Given the description of an element on the screen output the (x, y) to click on. 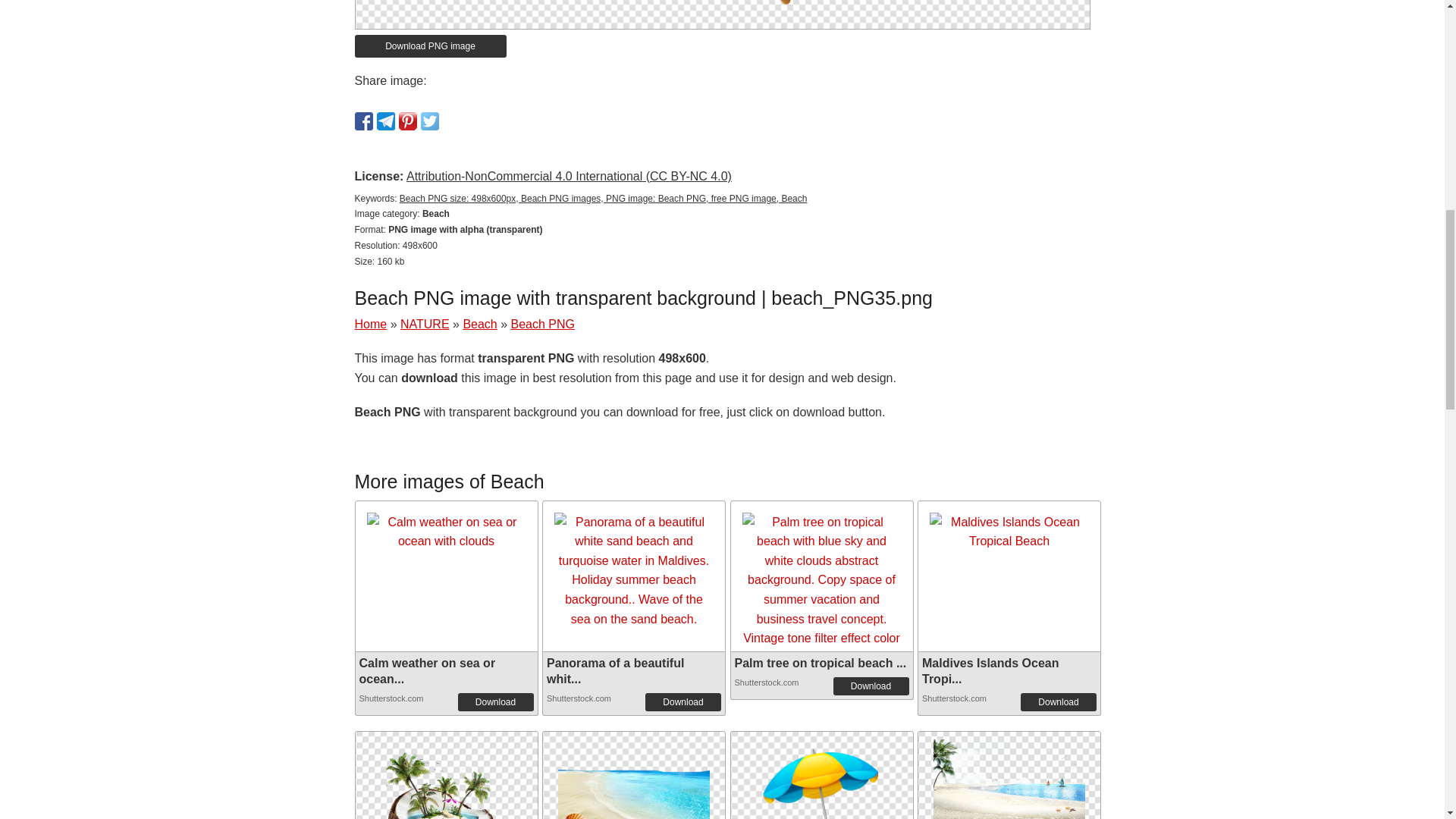
Download (496, 701)
Tweet (429, 121)
Maldives Islands Ocean Tropi... (990, 670)
Download (682, 701)
Beach PNG (633, 784)
Beach PNG (543, 323)
Maldives Islands Ocean Tropical Beach (1009, 531)
Beach PNG (445, 775)
Beach PNG (633, 775)
Beach PNG (721, 3)
